Given the description of an element on the screen output the (x, y) to click on. 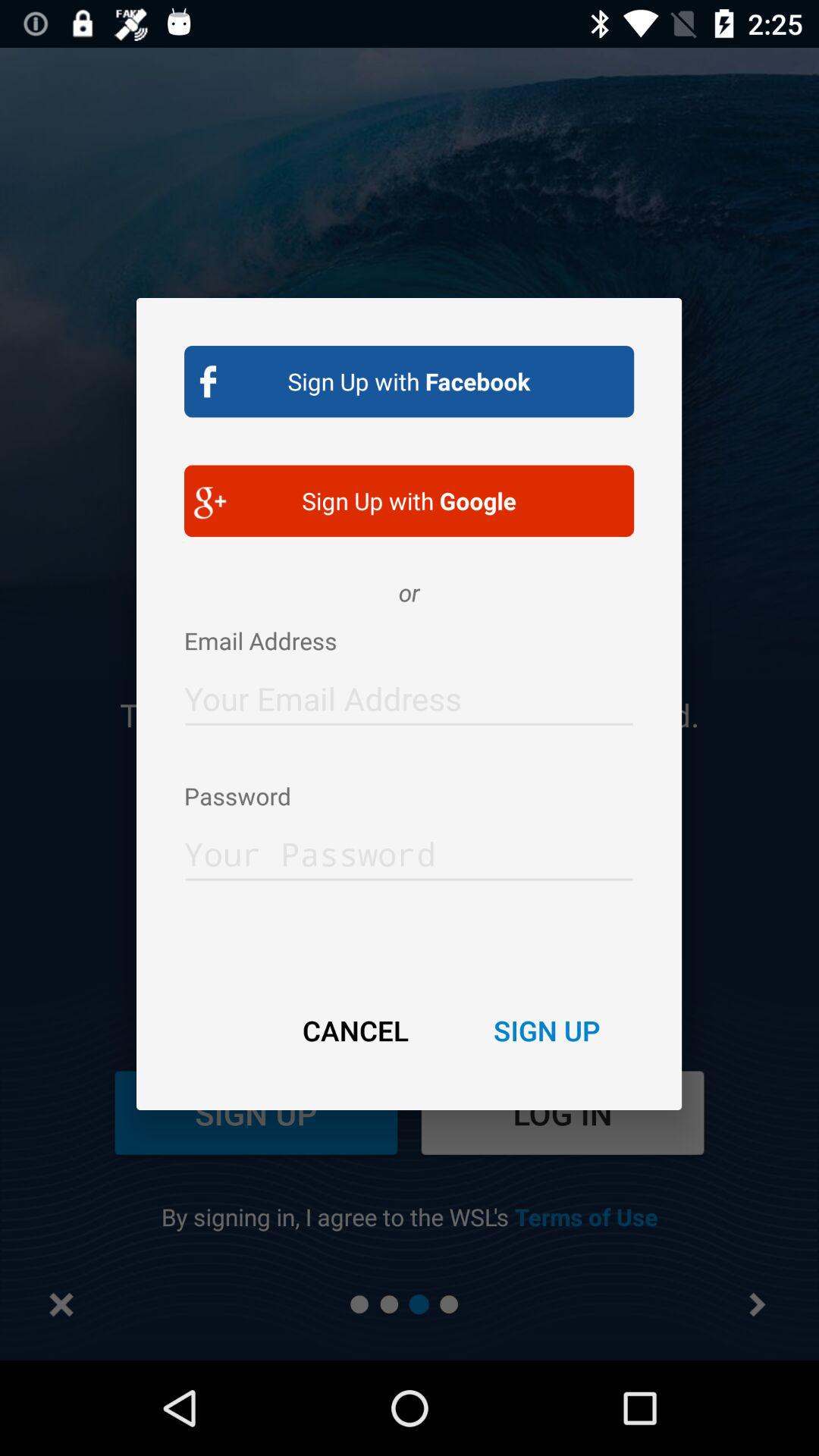
enter password (408, 849)
